Given the description of an element on the screen output the (x, y) to click on. 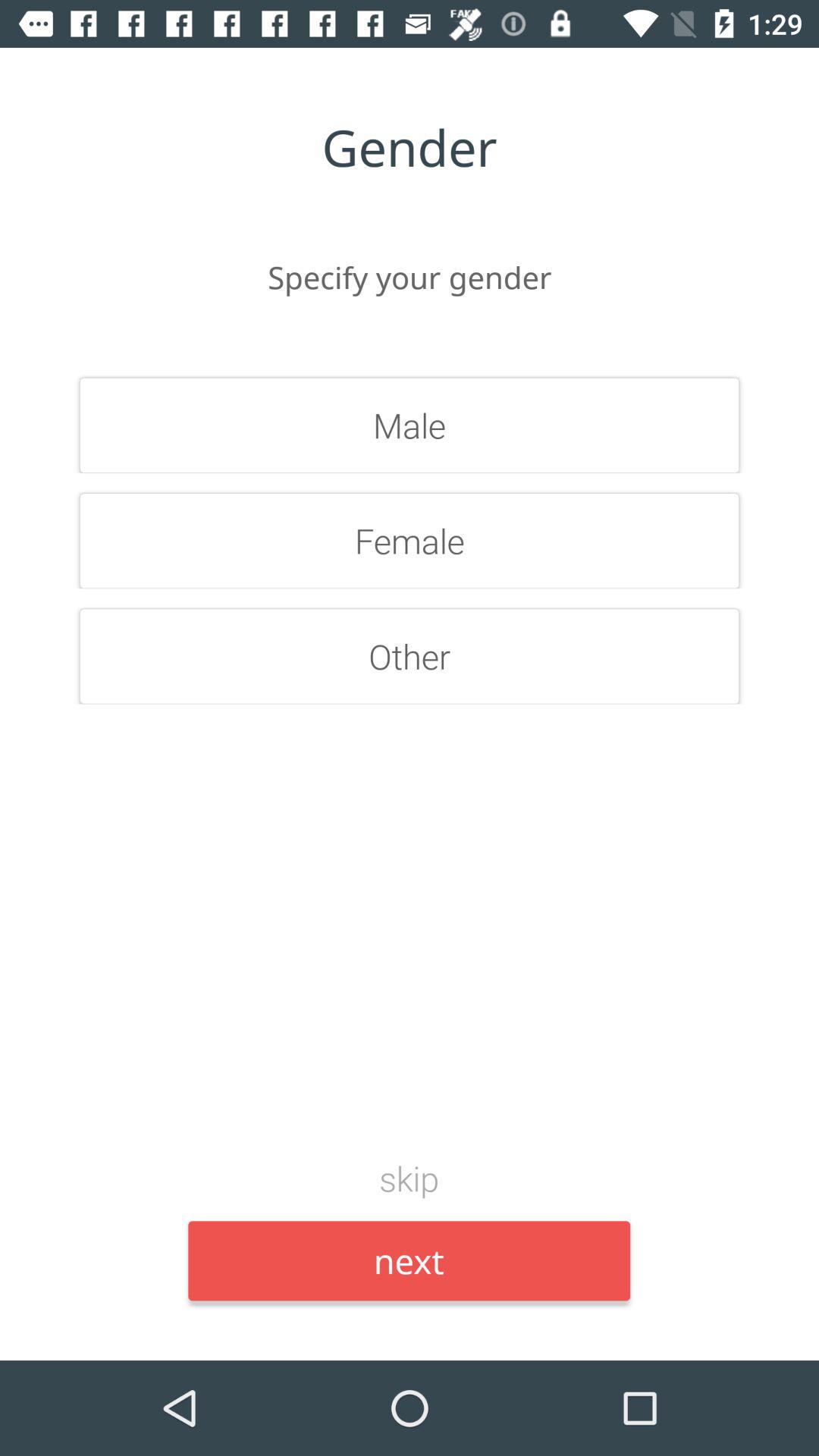
launch icon below the male icon (409, 540)
